Given the description of an element on the screen output the (x, y) to click on. 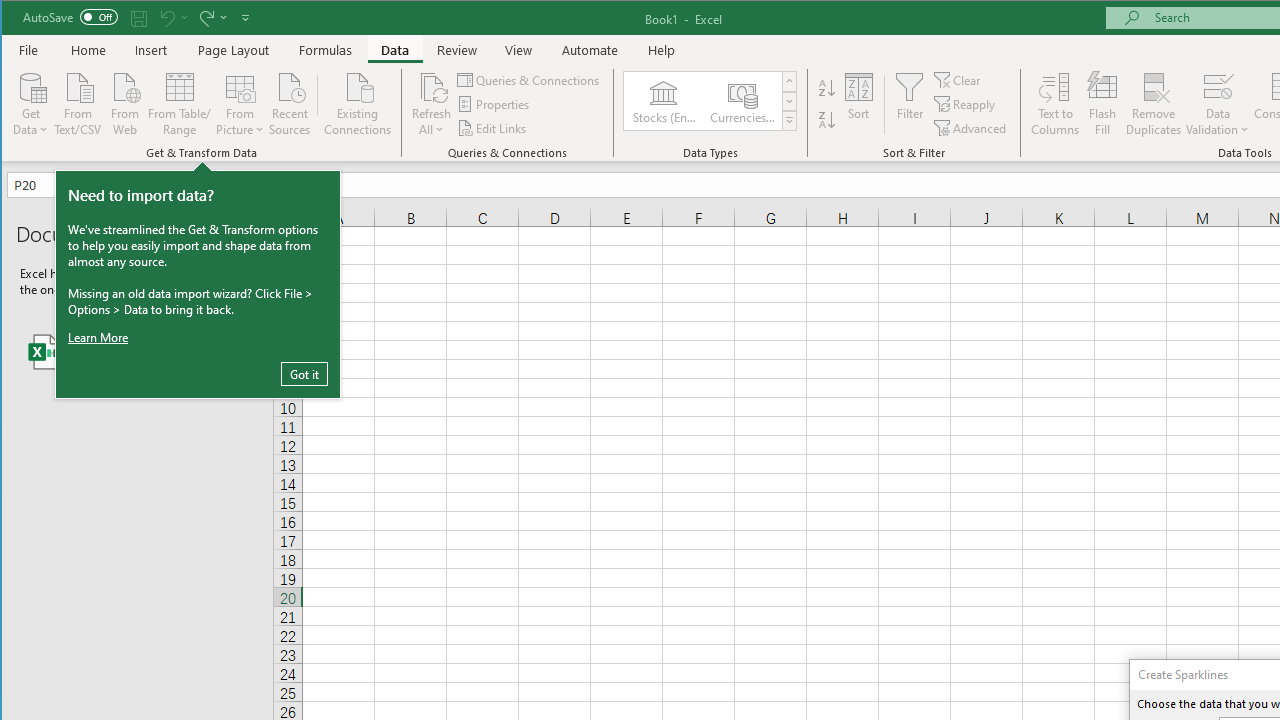
View (518, 50)
Refresh All (431, 104)
Stocks (English) (663, 100)
Data (395, 50)
Flash Fill (1102, 104)
From Table/Range (179, 101)
File Tab (29, 49)
Redo (211, 17)
Currencies (English) (741, 100)
Undo (166, 17)
Customize Quick Access Toolbar (245, 17)
More Options (1217, 123)
Properties (495, 103)
Quick Access Toolbar (137, 17)
Queries & Connections (529, 80)
